Given the description of an element on the screen output the (x, y) to click on. 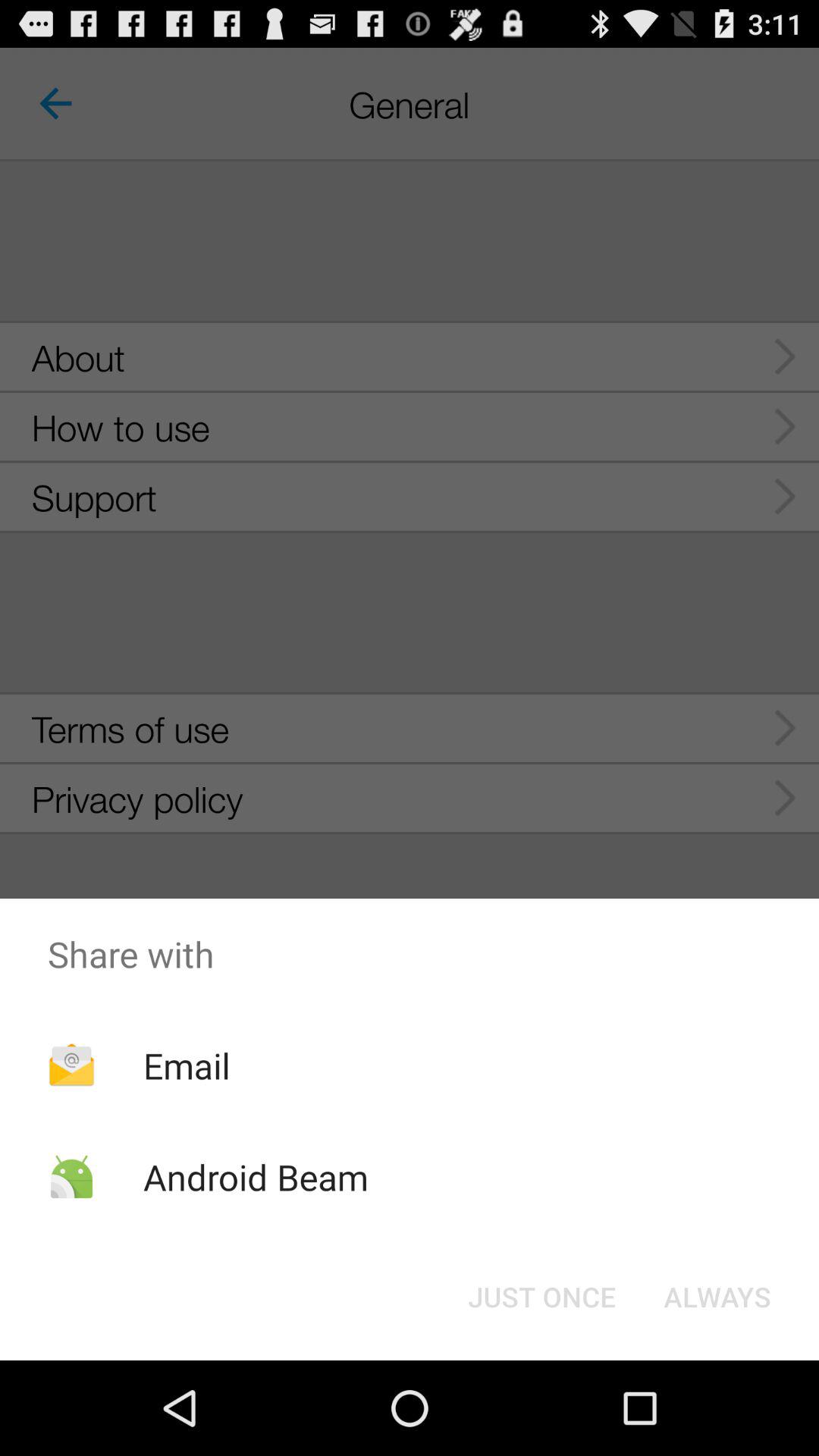
click item below share with item (717, 1296)
